Given the description of an element on the screen output the (x, y) to click on. 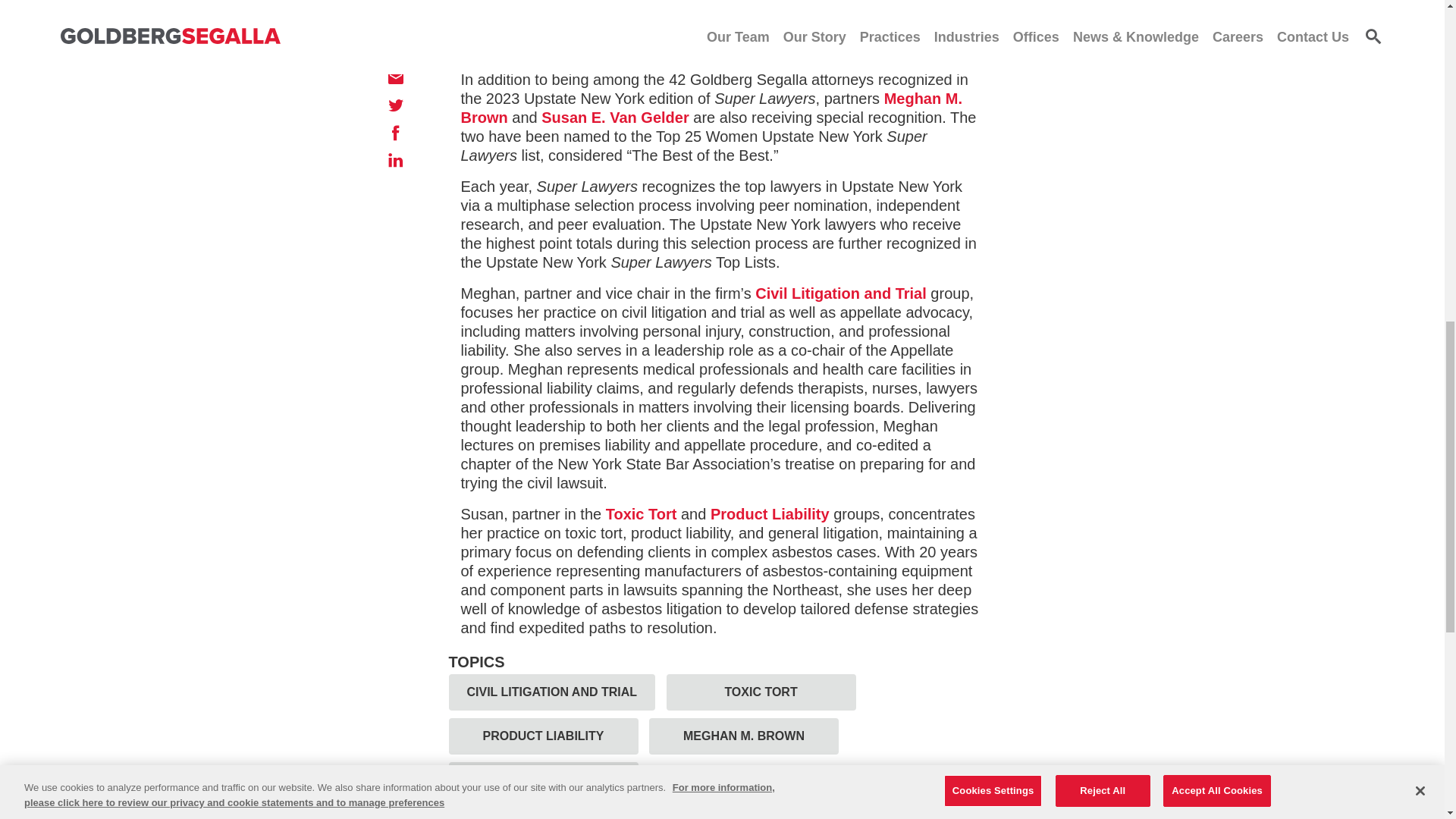
Toxic Tort (641, 514)
SUSAN E. VAN GELDER (543, 780)
PRODUCT LIABILITY (543, 736)
Meghan M. Brown (711, 108)
Product Liability (769, 514)
Civil Litigation and Trial (840, 293)
MEGHAN M. BROWN (743, 736)
TOXIC TORT (761, 692)
Susan E. Van Gelder (614, 117)
CIVIL LITIGATION AND TRIAL (552, 692)
